Given the description of an element on the screen output the (x, y) to click on. 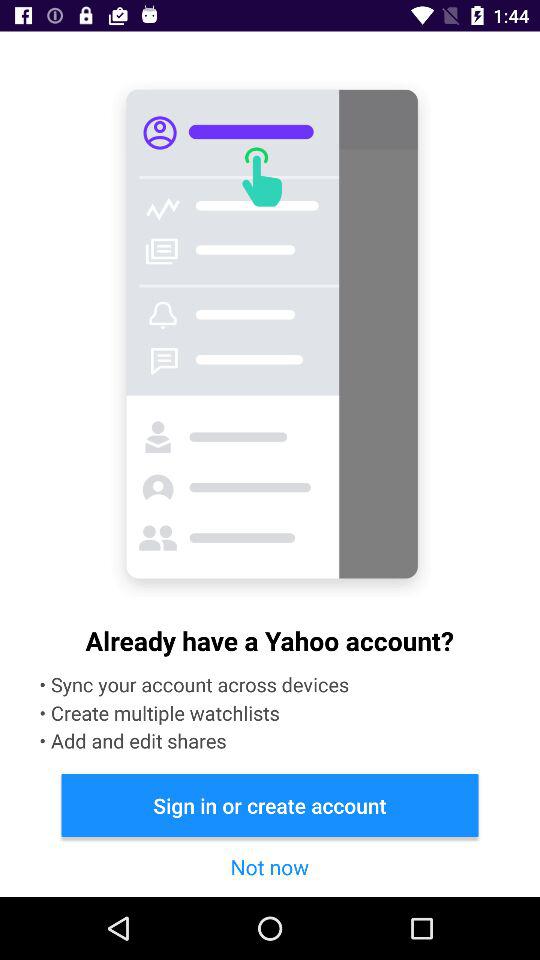
select the sign in or (269, 804)
